Given the description of an element on the screen output the (x, y) to click on. 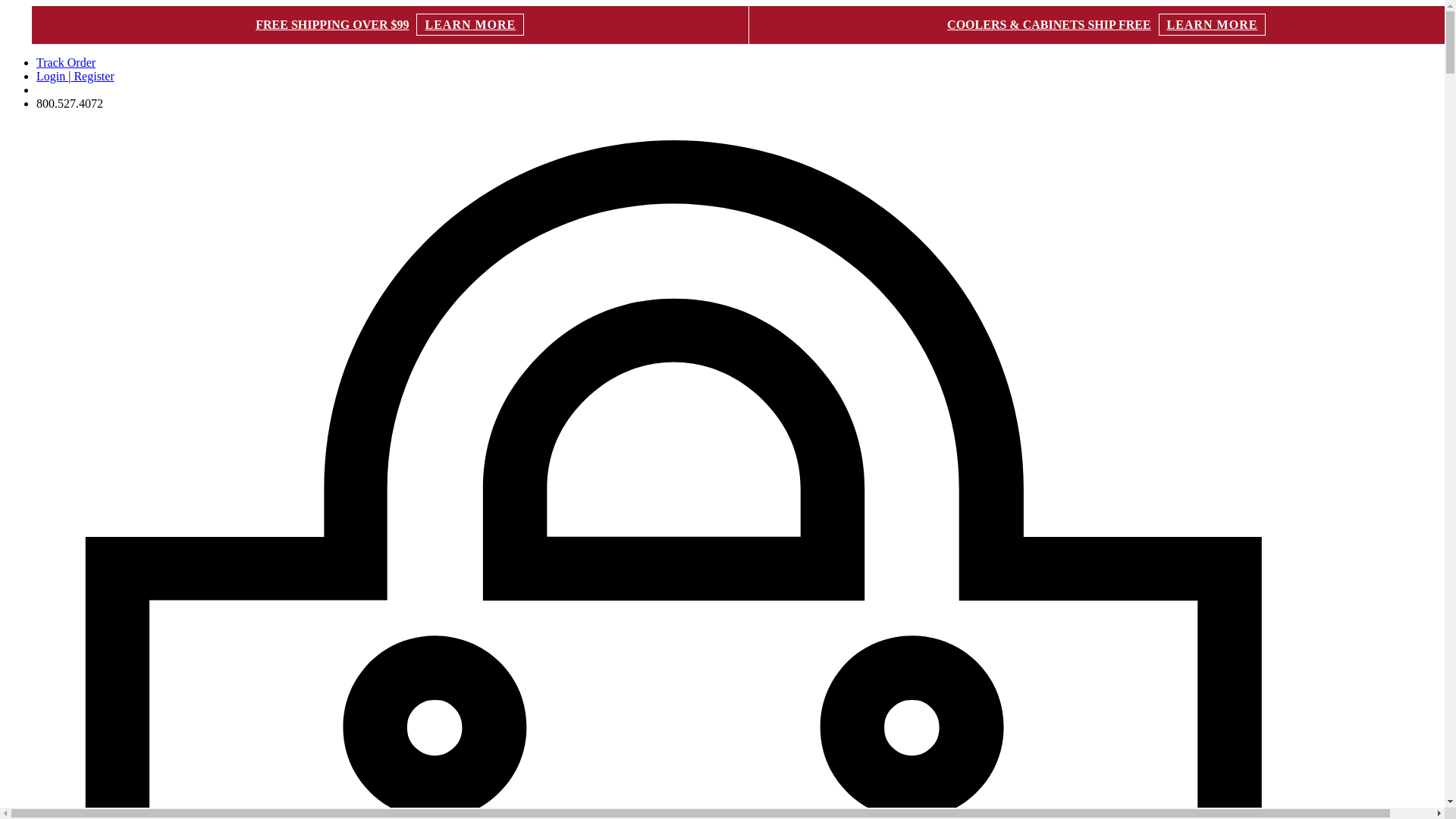
Track Order (66, 62)
LEARN MORE (1212, 24)
LEARN MORE (470, 24)
Register (91, 75)
Login (52, 75)
